Given the description of an element on the screen output the (x, y) to click on. 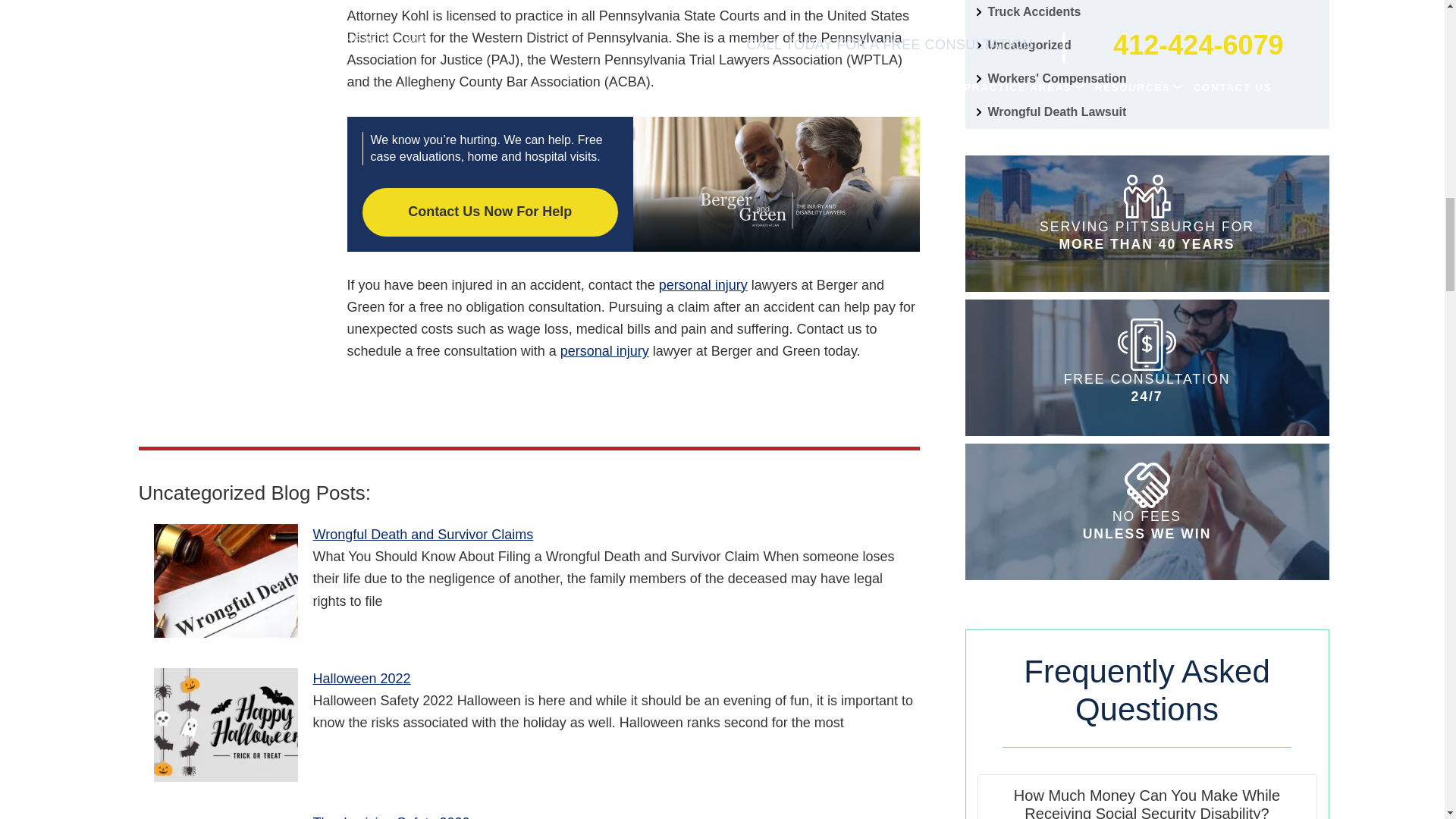
Halloween 2022 (224, 725)
Wrongful Death and Survivor Claims (224, 581)
Thanksgiving Safety 2022 (224, 815)
